Given the description of an element on the screen output the (x, y) to click on. 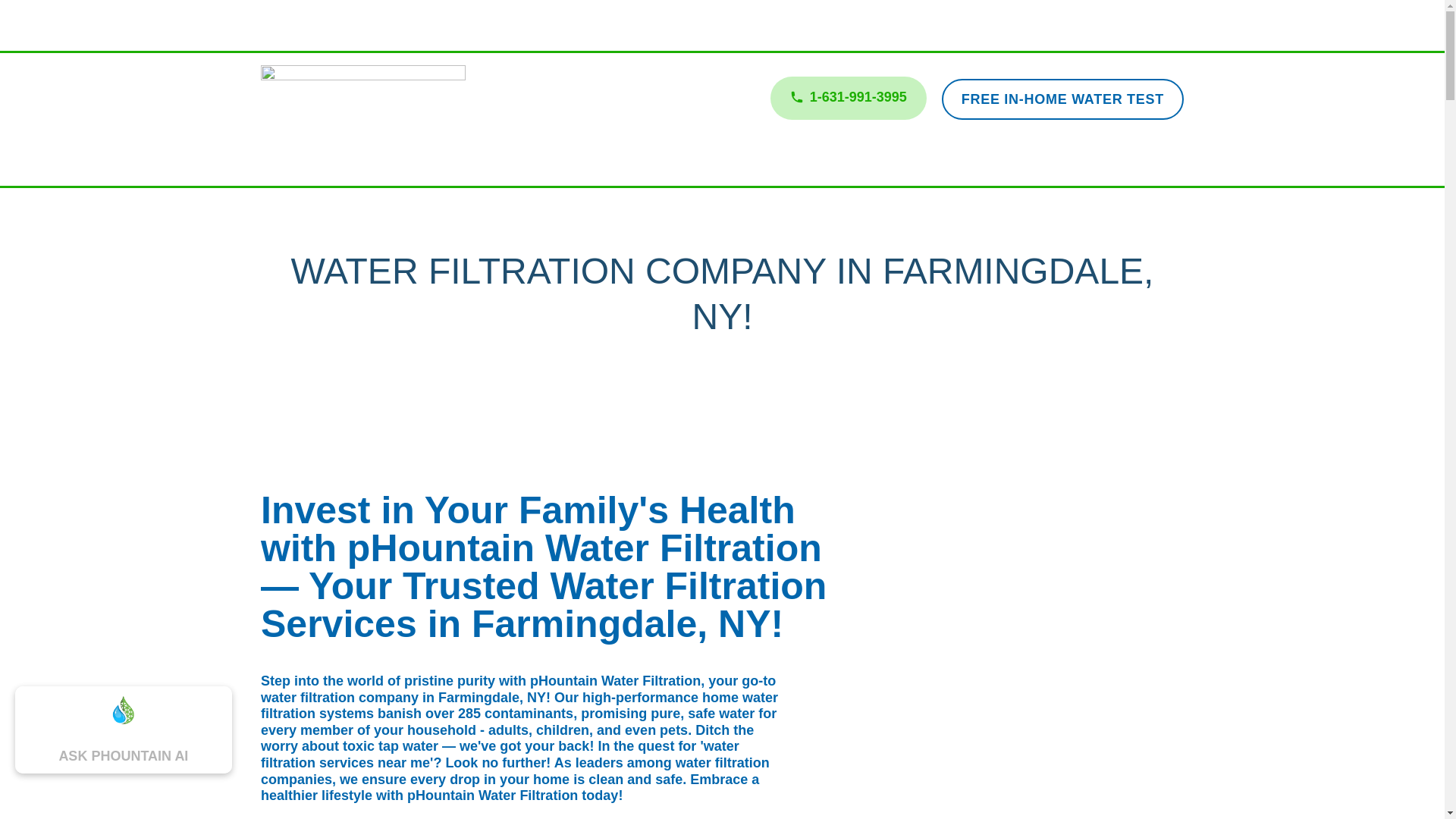
1-631-991-3995 (848, 97)
WHAT IS PHOUNTAIN (372, 163)
ASK PHOUNTAIN AI (123, 748)
WHOLE HOME WATER FILTRATION (566, 163)
FAQ (852, 163)
ABOUT US (729, 163)
FREE IN-HOME WATER TEST (1062, 98)
BLOG (904, 163)
SHOP (801, 163)
